Given the description of an element on the screen output the (x, y) to click on. 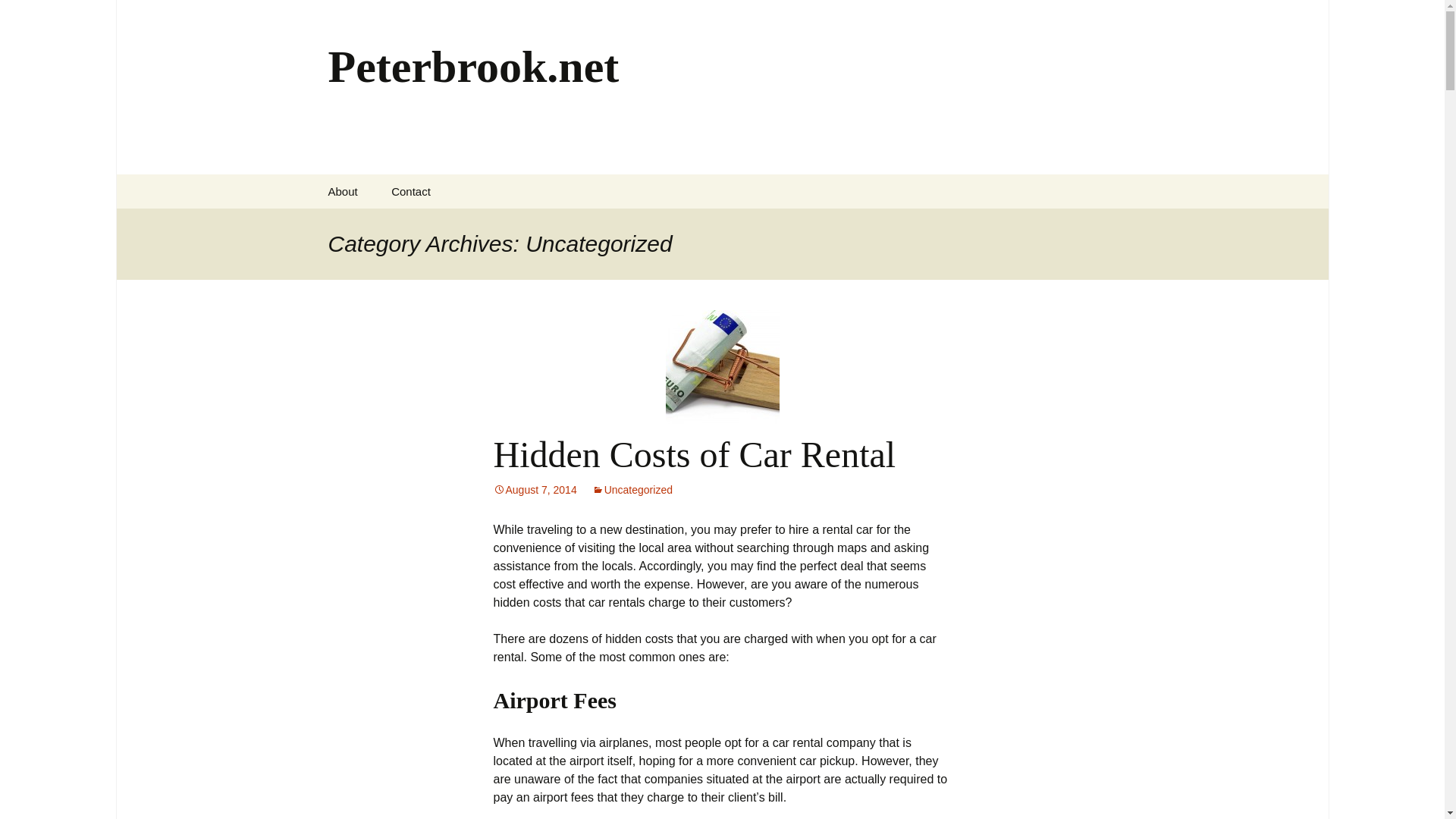
Permalink to Hidden Costs of Car Rental (534, 490)
About (342, 191)
Uncategorized (632, 490)
August 7, 2014 (534, 490)
Search (18, 15)
Contact (410, 191)
Hidden Costs of Car Rental (694, 454)
